Given the description of an element on the screen output the (x, y) to click on. 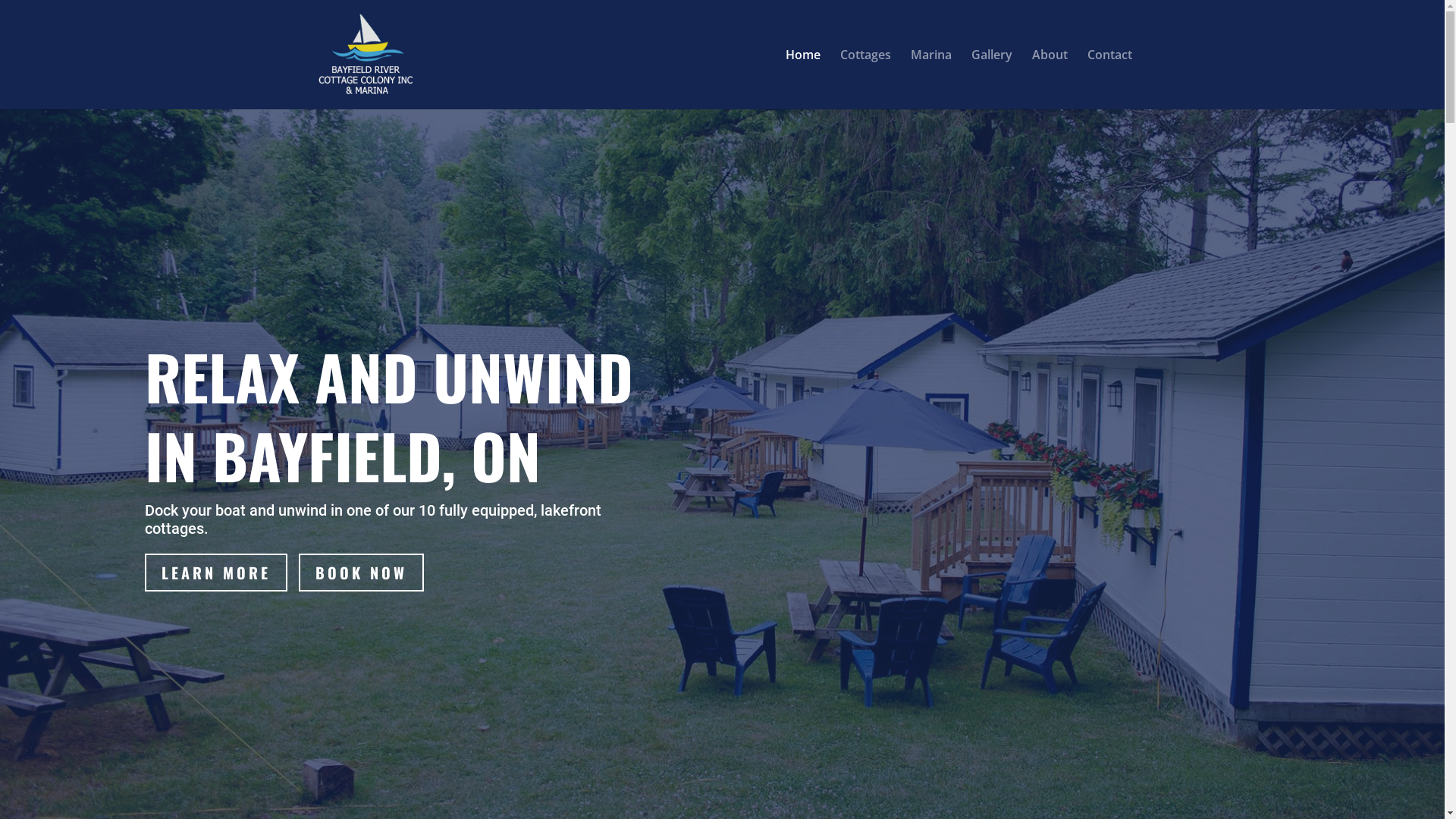
Marina Element type: text (930, 79)
Contact Element type: text (1109, 79)
BOOK NOW Element type: text (360, 572)
LEARN MORE Element type: text (215, 572)
Home Element type: text (802, 79)
About Element type: text (1048, 79)
Gallery Element type: text (990, 79)
Cottages Element type: text (865, 79)
